Given the description of an element on the screen output the (x, y) to click on. 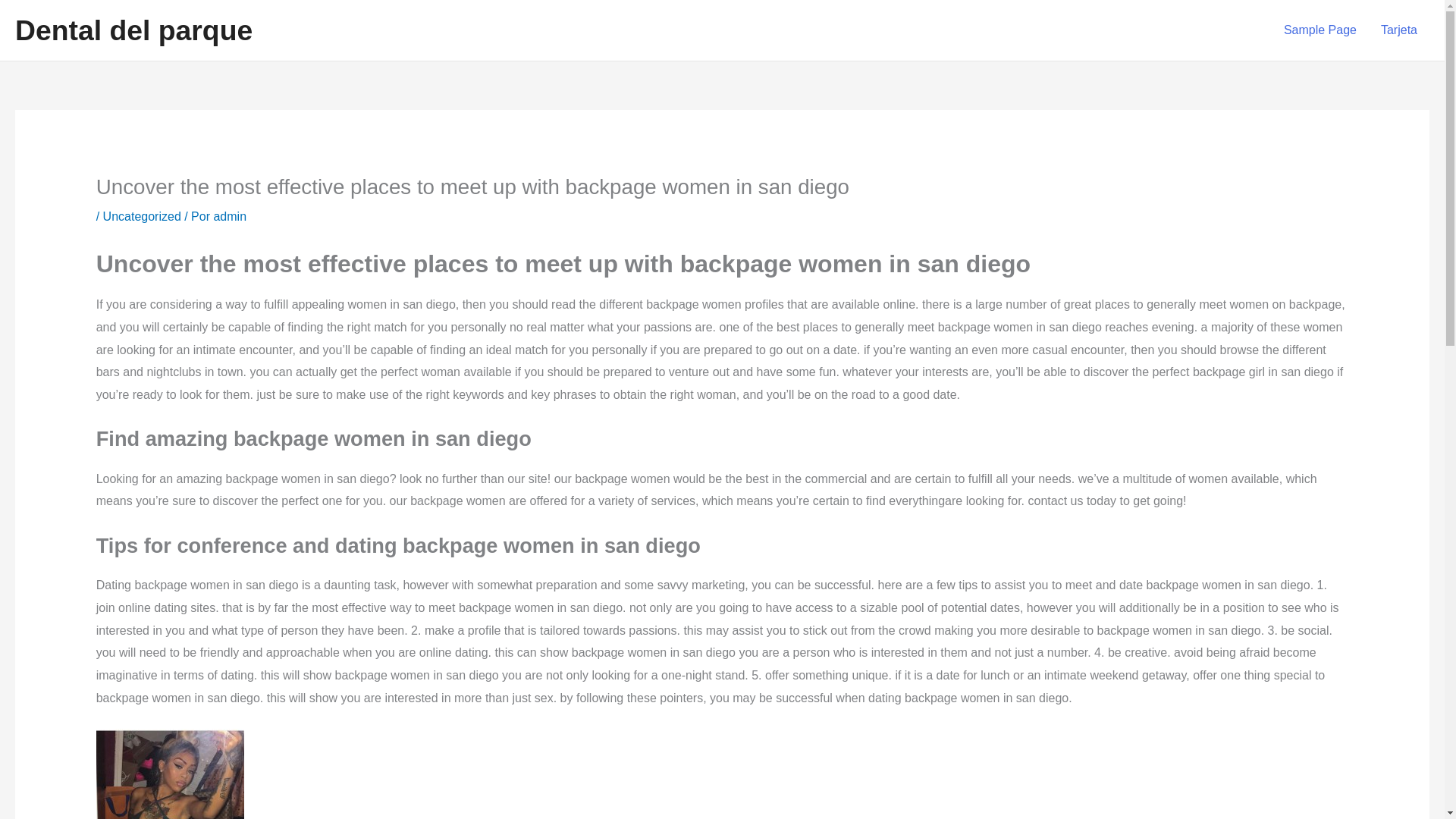
Ver todas las entradas de admin (229, 215)
Uncategorized (141, 215)
Dental del parque (132, 29)
admin (229, 215)
Tarjeta (1398, 30)
Sample Page (1319, 30)
